Given the description of an element on the screen output the (x, y) to click on. 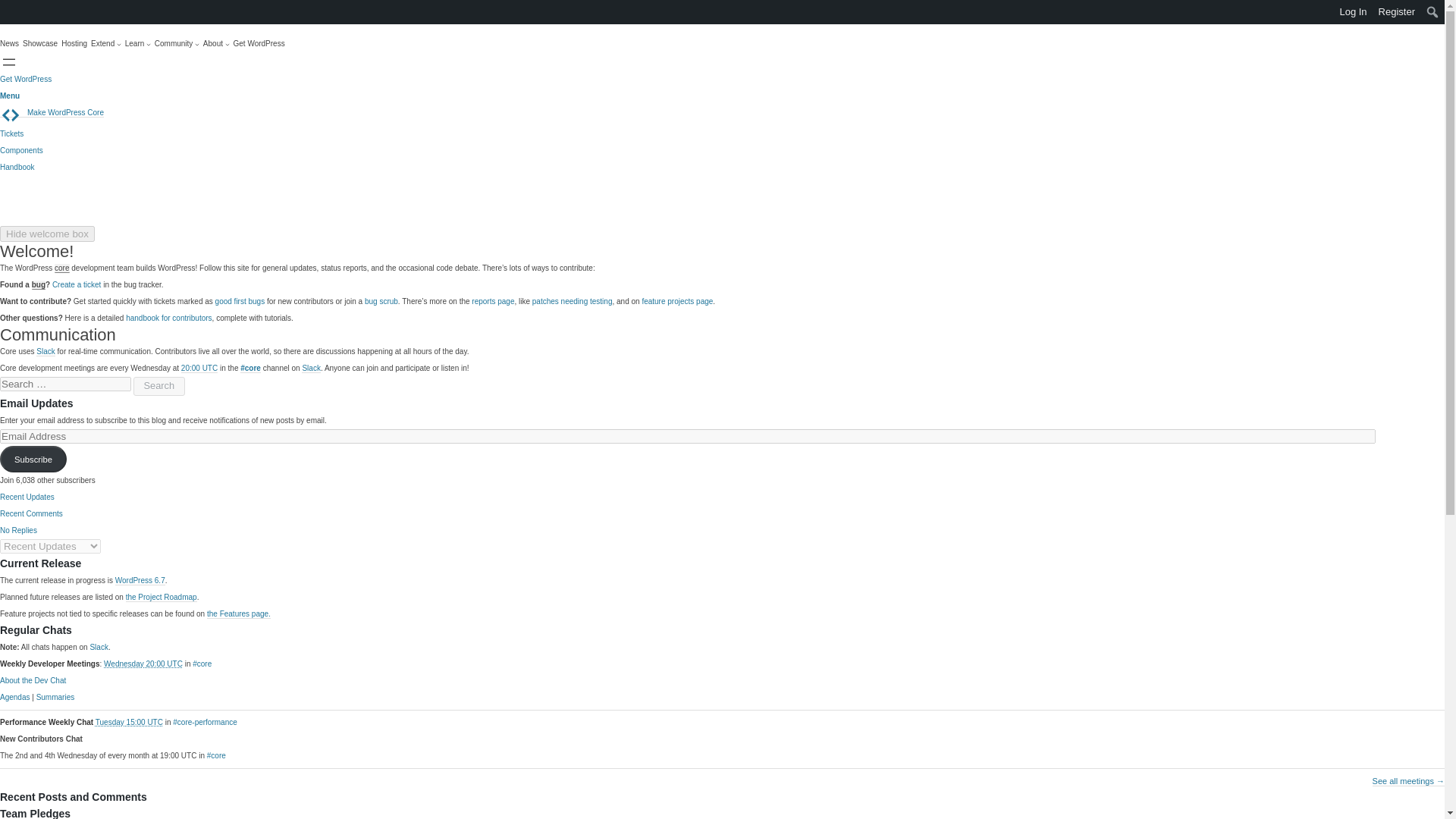
Log In (1353, 12)
Get WordPress (258, 44)
WordPress.org (10, 10)
Hosting (74, 44)
About (216, 44)
Menu (10, 95)
Tickets (11, 133)
Get WordPress (25, 79)
Community (176, 44)
Learn (138, 44)
